Given the description of an element on the screen output the (x, y) to click on. 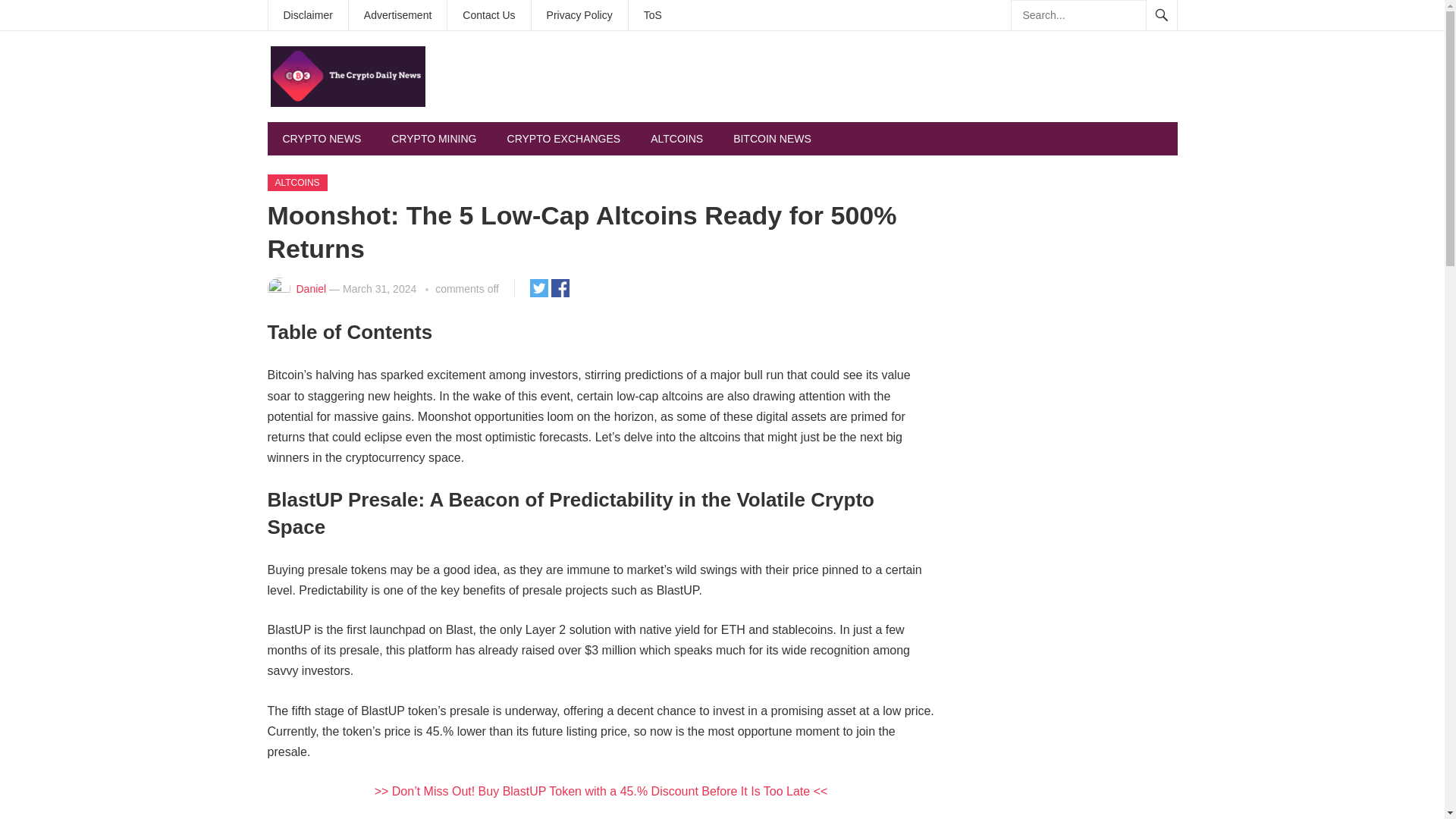
Disclaimer (307, 15)
Posts by Daniel (310, 288)
ALTCOINS (296, 182)
Privacy Policy (579, 15)
CRYPTO MINING (433, 138)
ALTCOINS (675, 138)
BITCOIN NEWS (772, 138)
Daniel (310, 288)
CRYPTO EXCHANGES (564, 138)
ToS (652, 15)
